Given the description of an element on the screen output the (x, y) to click on. 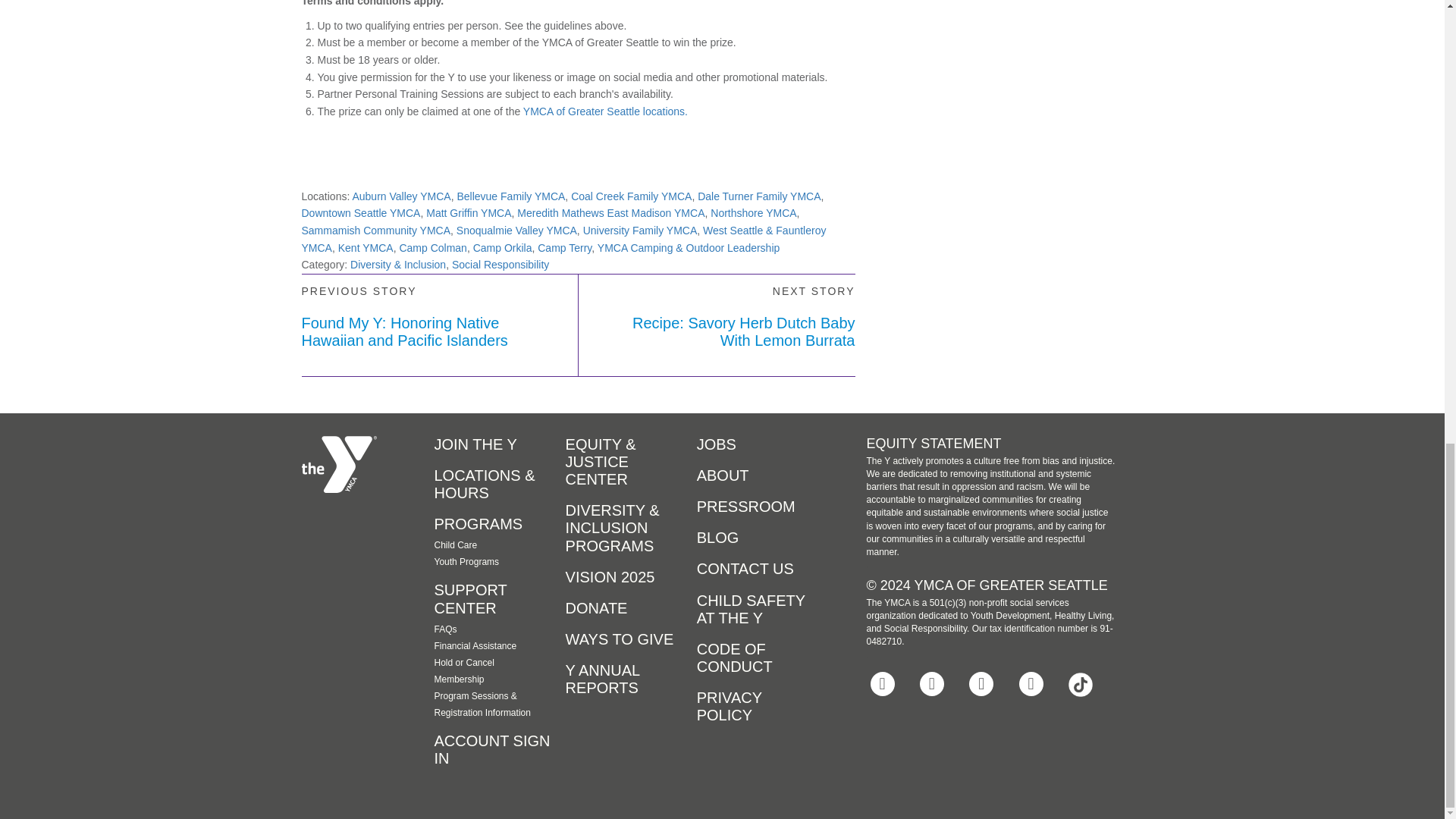
YMCA (339, 464)
